Given the description of an element on the screen output the (x, y) to click on. 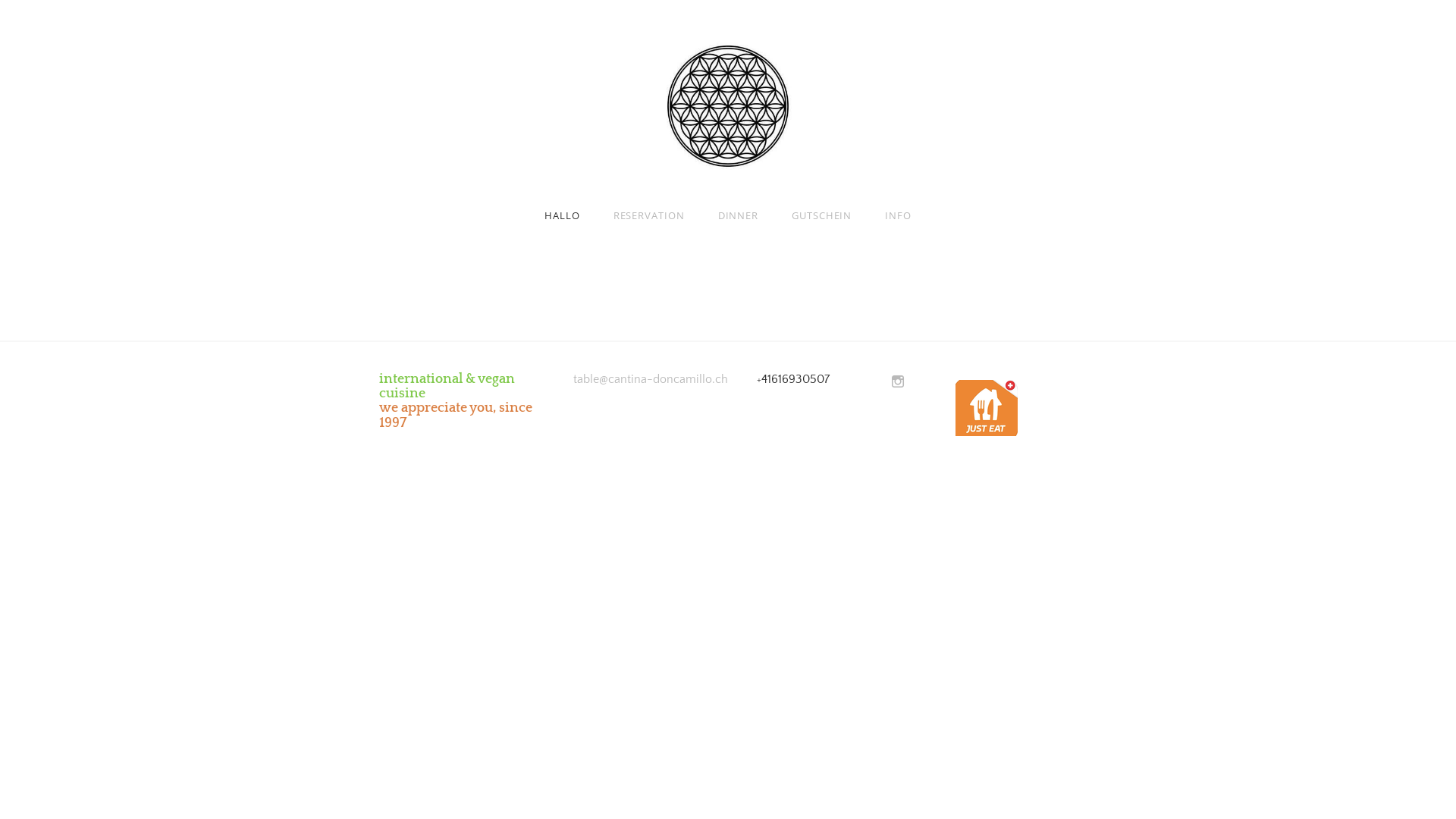
DINNER Element type: text (737, 215)
table@cantina-doncamillo.ch Element type: text (650, 380)
RESERVATION Element type: text (649, 215)
INFO Element type: text (897, 215)
HALLO Element type: text (562, 215)
GUTSCHEIN Element type: text (821, 215)
41616930507 Element type: text (795, 380)
